Given the description of an element on the screen output the (x, y) to click on. 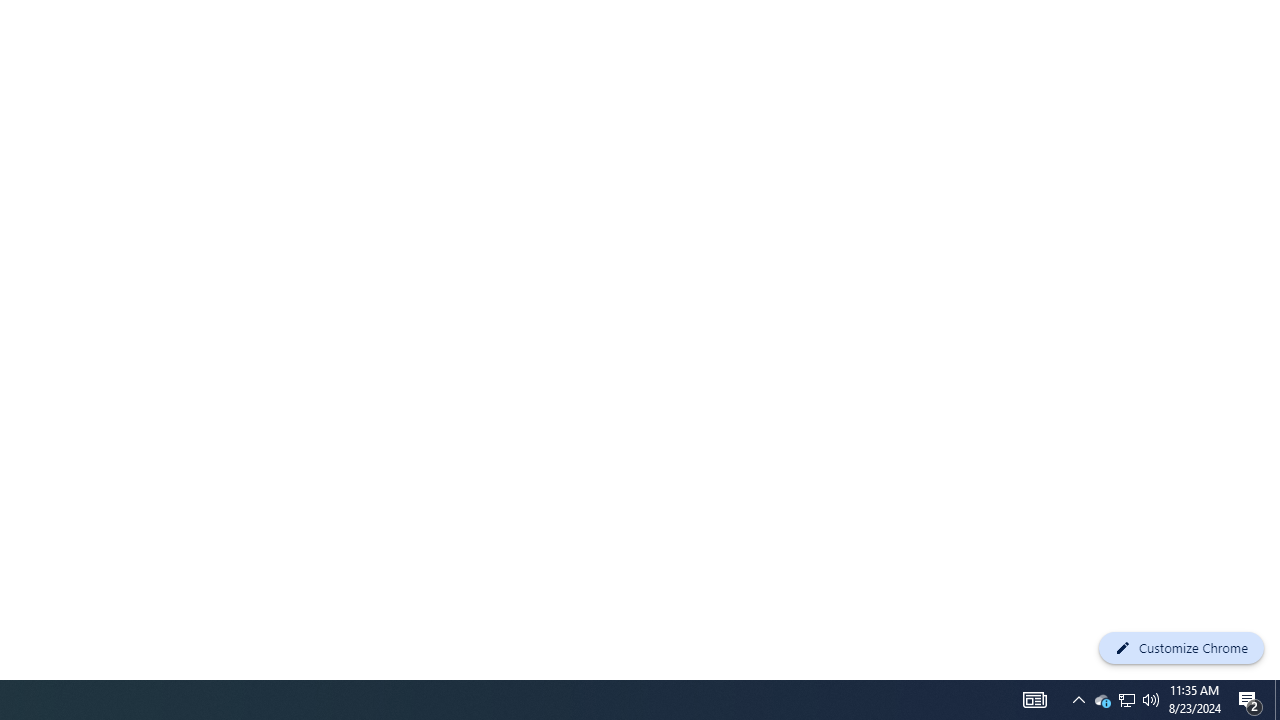
Customize Chrome (1181, 647)
